Given the description of an element on the screen output the (x, y) to click on. 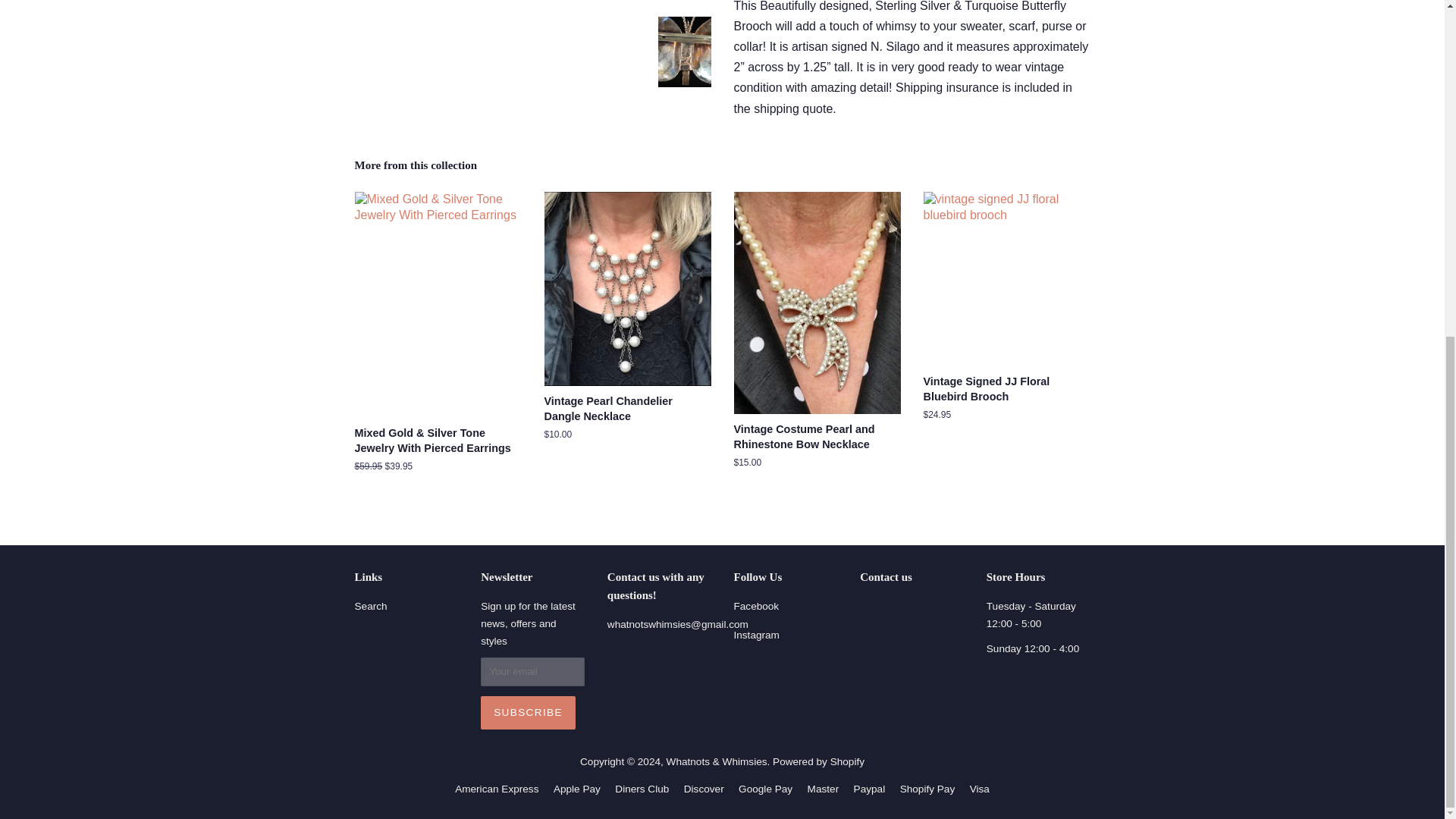
Facebook (755, 605)
Powered by Shopify (818, 761)
Subscribe (527, 712)
Instagram (755, 634)
Search (371, 605)
Subscribe (527, 712)
